Given the description of an element on the screen output the (x, y) to click on. 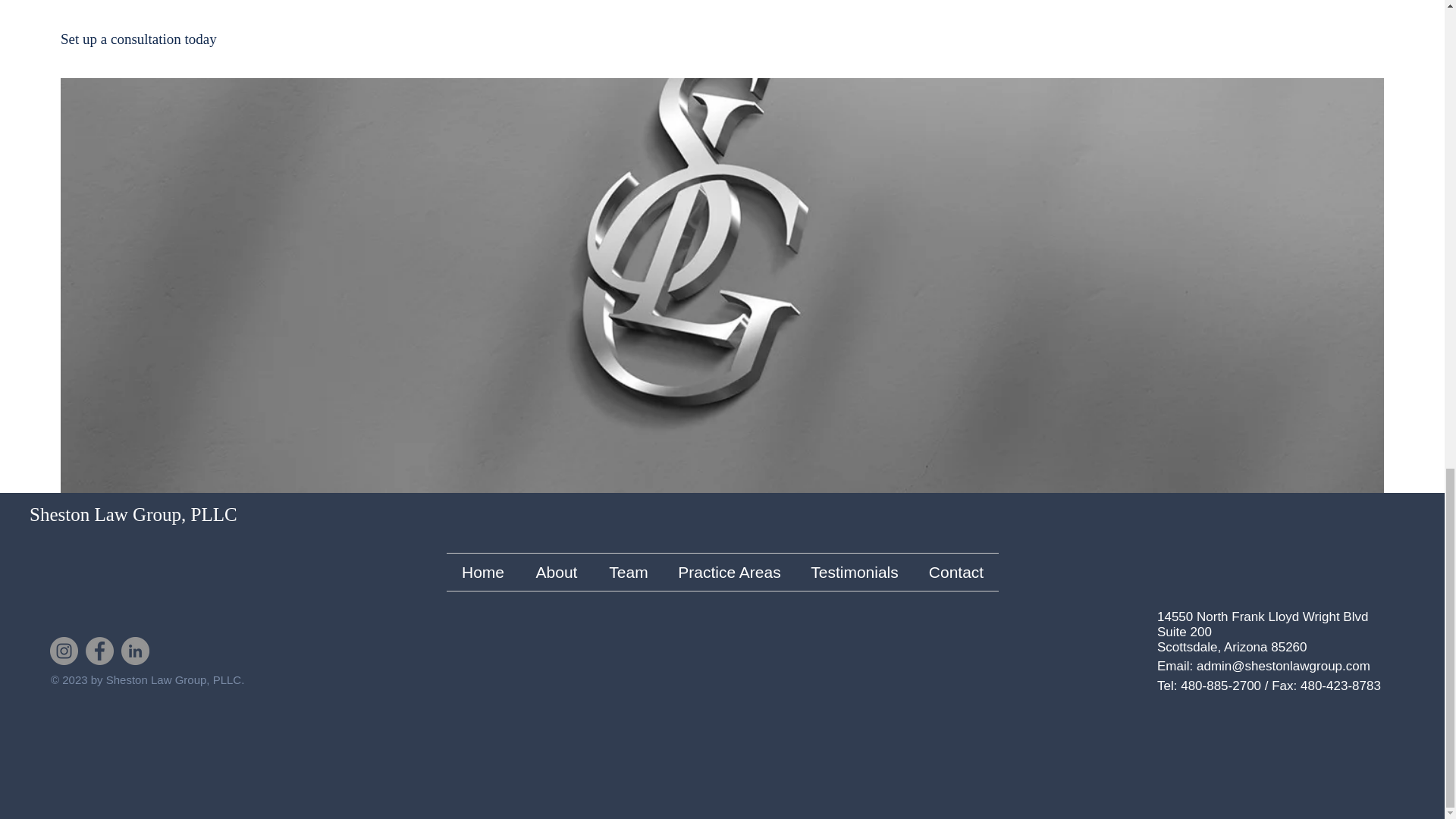
Testimonials (854, 571)
Contact (956, 571)
Sheston Law Group, PLLC (133, 514)
Team (627, 571)
Home (482, 571)
About (556, 571)
